Given the description of an element on the screen output the (x, y) to click on. 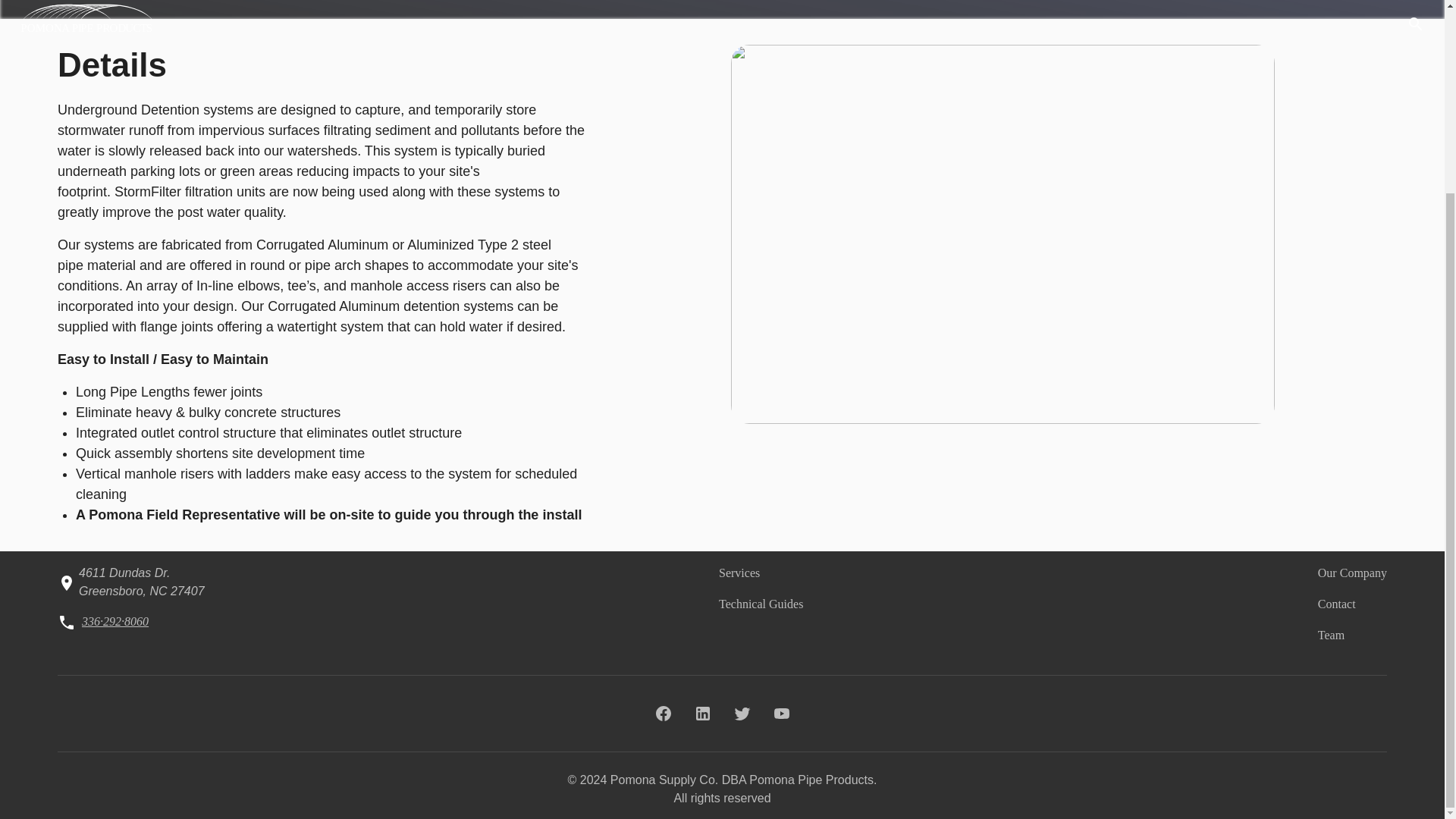
Technical Guides (761, 603)
Contact (1336, 603)
Team (1330, 634)
Our Company (1352, 572)
Services (739, 572)
